Given the description of an element on the screen output the (x, y) to click on. 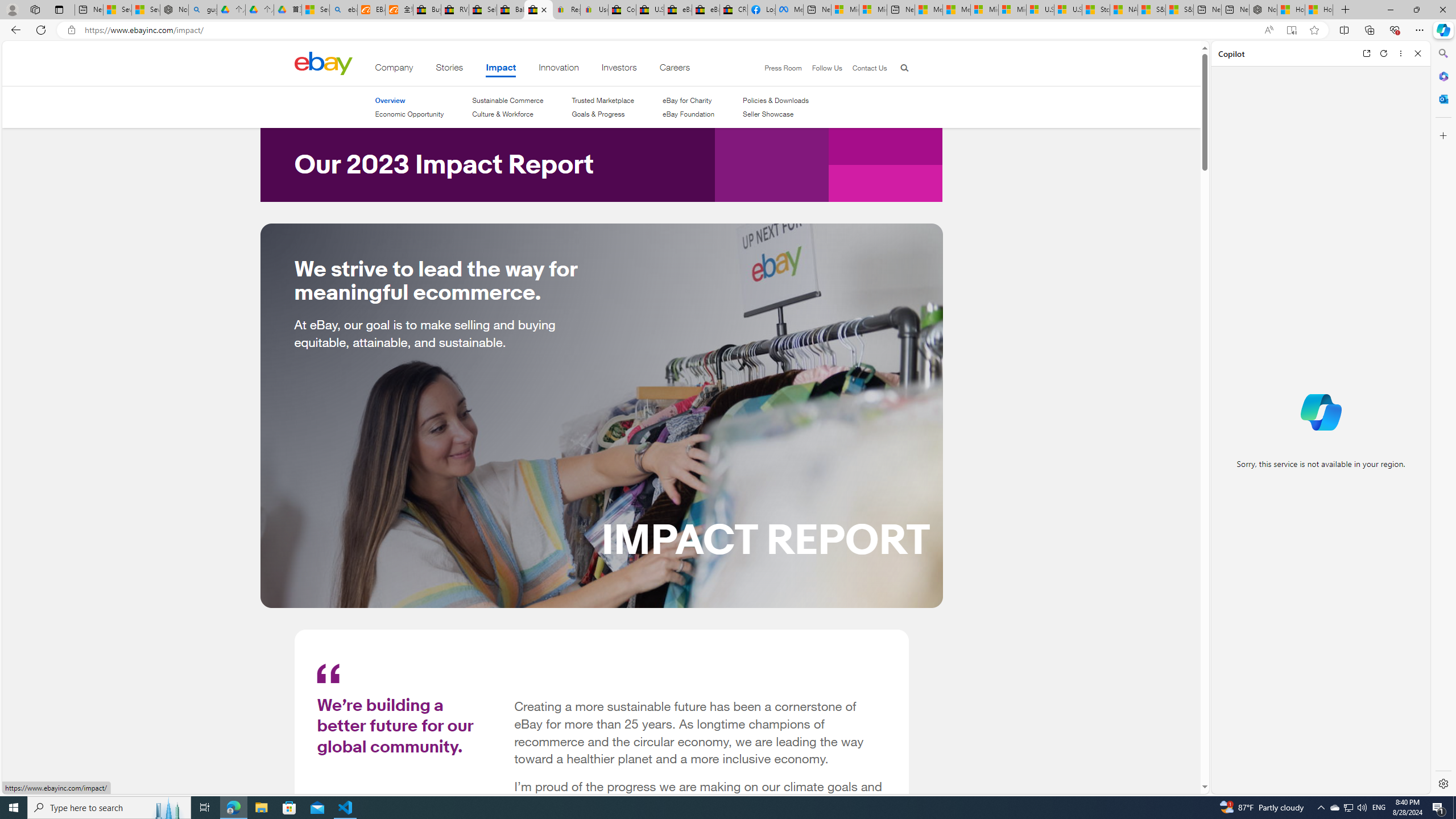
Innovation (558, 69)
Press Room (778, 68)
guge yunpan - Search (202, 9)
Policies & Downloads (775, 100)
Outlook (1442, 98)
Culture & Workforce (507, 113)
Seller Showcase (775, 113)
